Given the description of an element on the screen output the (x, y) to click on. 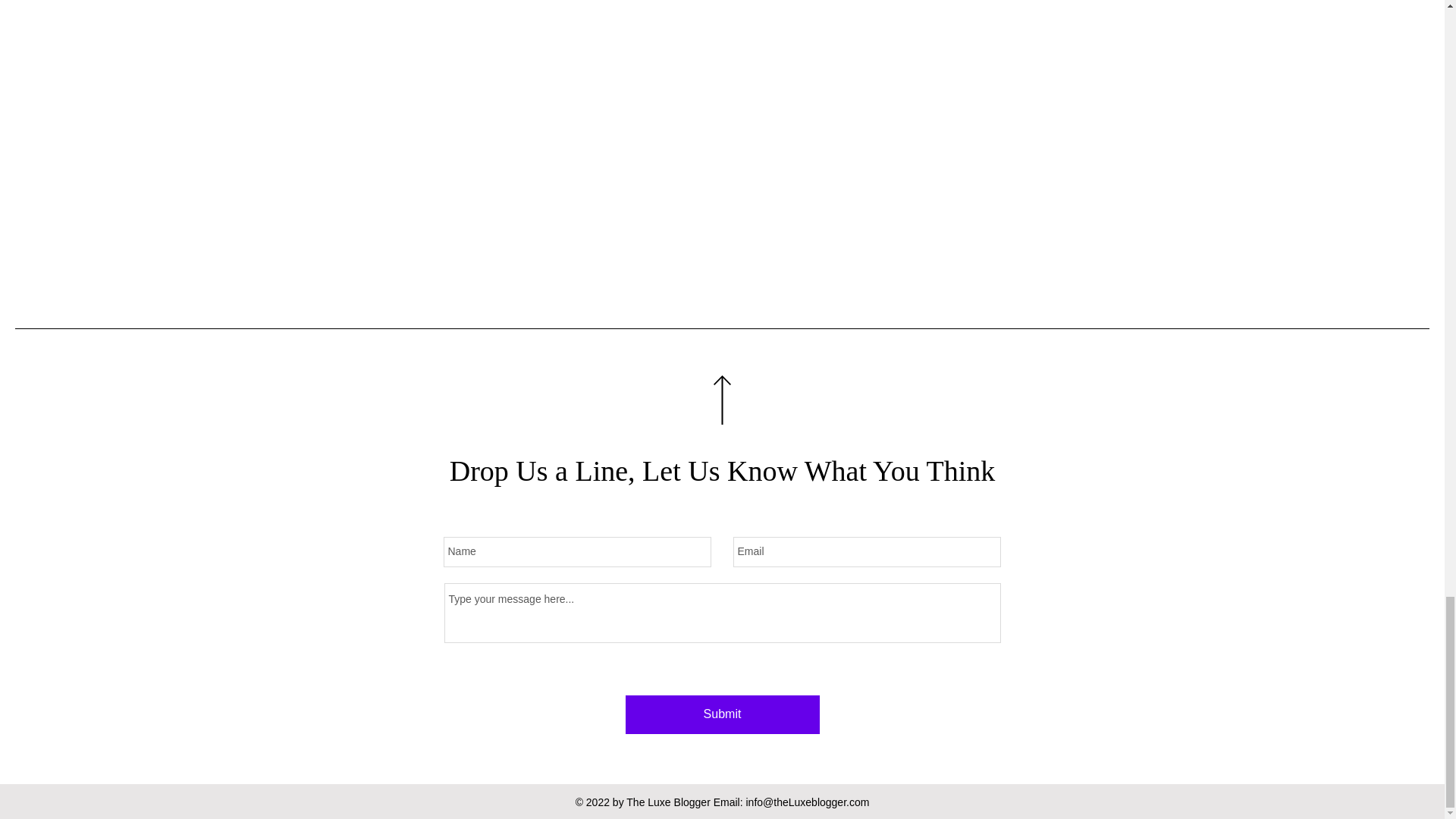
Submit (721, 714)
